Given the description of an element on the screen output the (x, y) to click on. 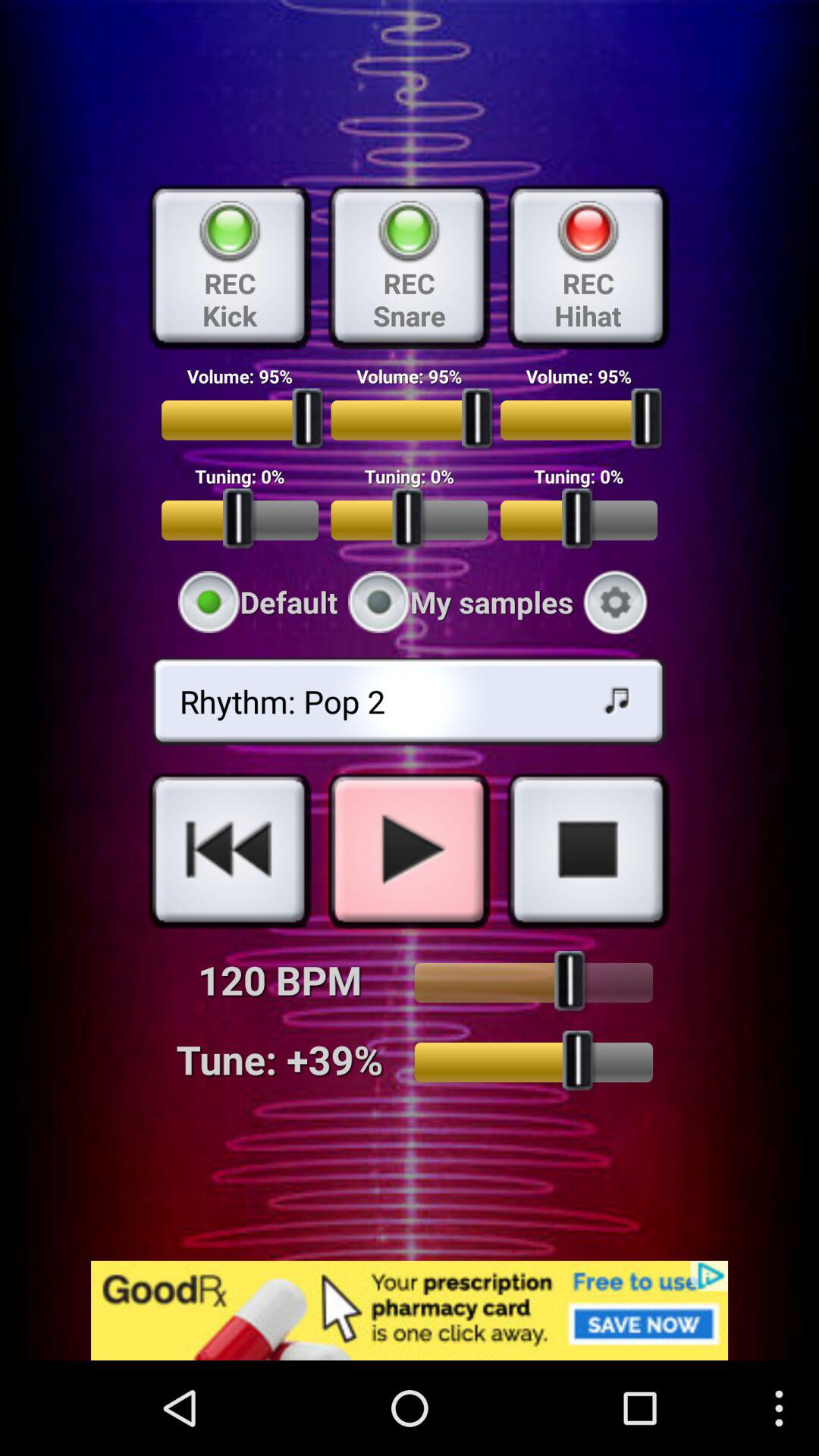
tuner (533, 1062)
